Given the description of an element on the screen output the (x, y) to click on. 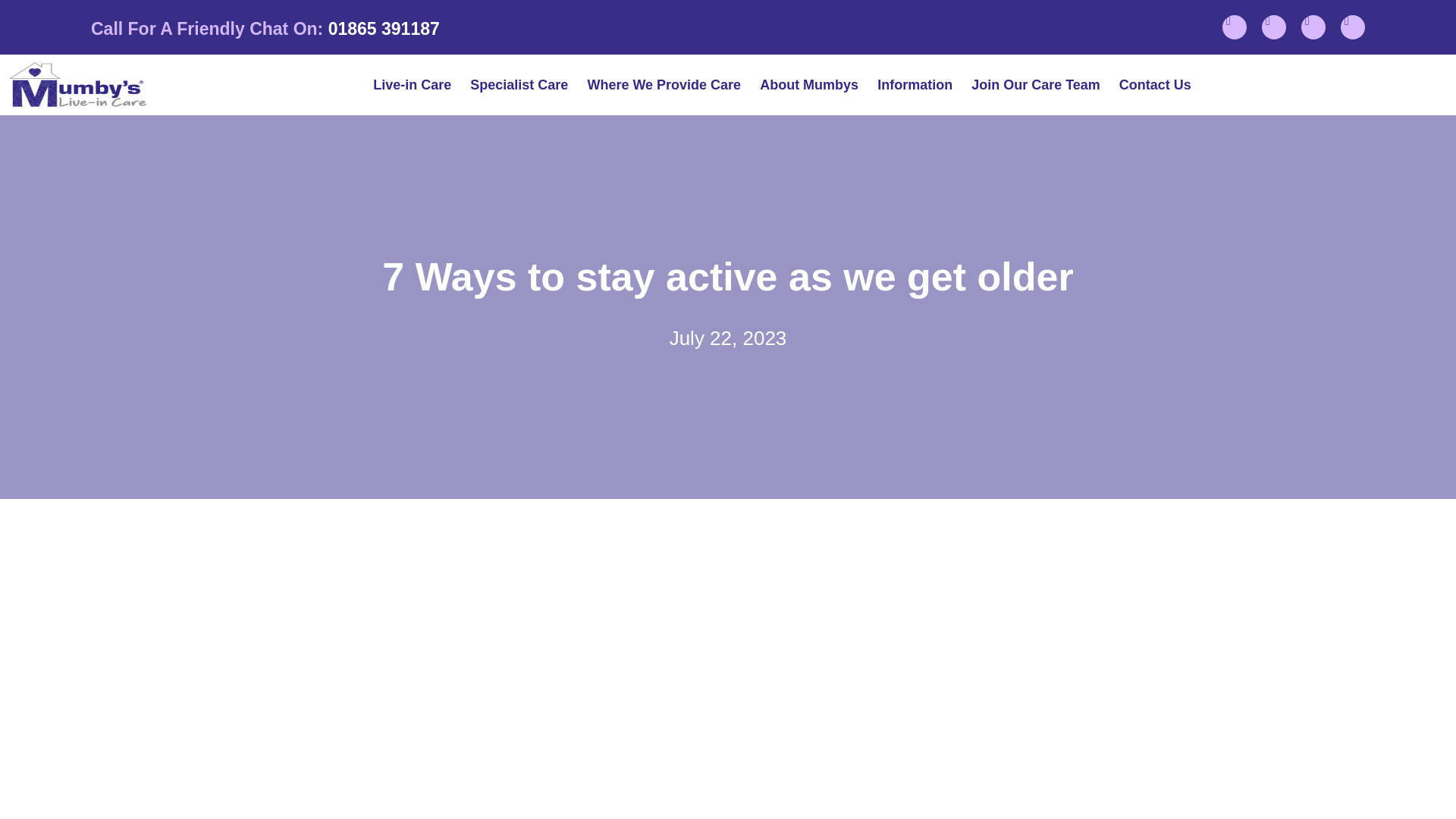
01865 391187 (384, 28)
Youtube (1352, 27)
Live-in Care (411, 84)
Specialist Care (518, 84)
About Mumbys (808, 84)
Where We Provide Care (663, 84)
Facebook-f (1234, 27)
Linkedin-in (1312, 27)
Instagram (1273, 27)
